Given the description of an element on the screen output the (x, y) to click on. 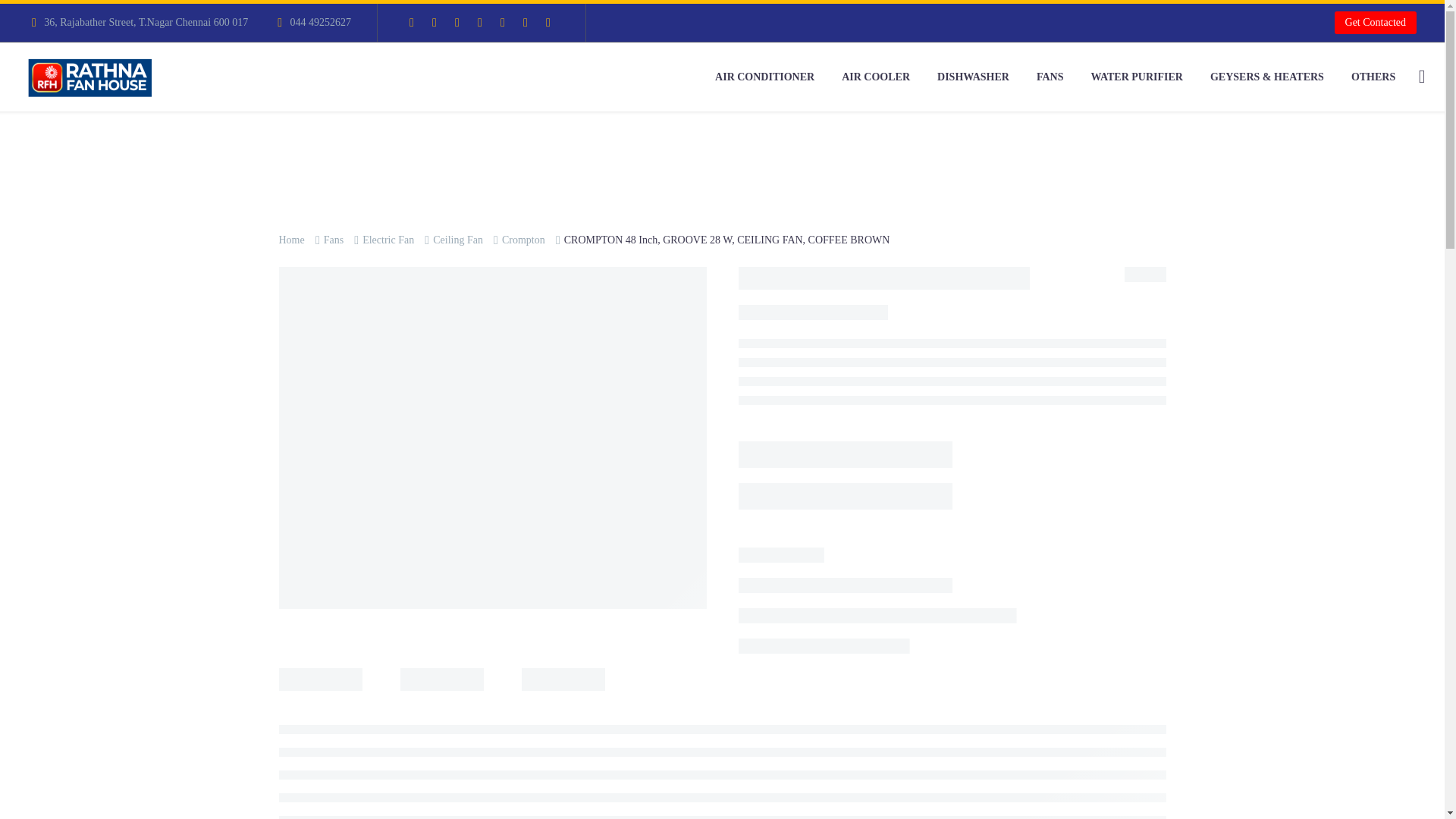
YouTube (502, 22)
Telegram (525, 22)
Get Contacted (1375, 22)
044 49252627 (319, 21)
WhatsApp (548, 22)
Instagram (480, 22)
LinkedIn (434, 22)
Facebook (411, 22)
Twitter (456, 22)
AIR CONDITIONER (764, 76)
